Given the description of an element on the screen output the (x, y) to click on. 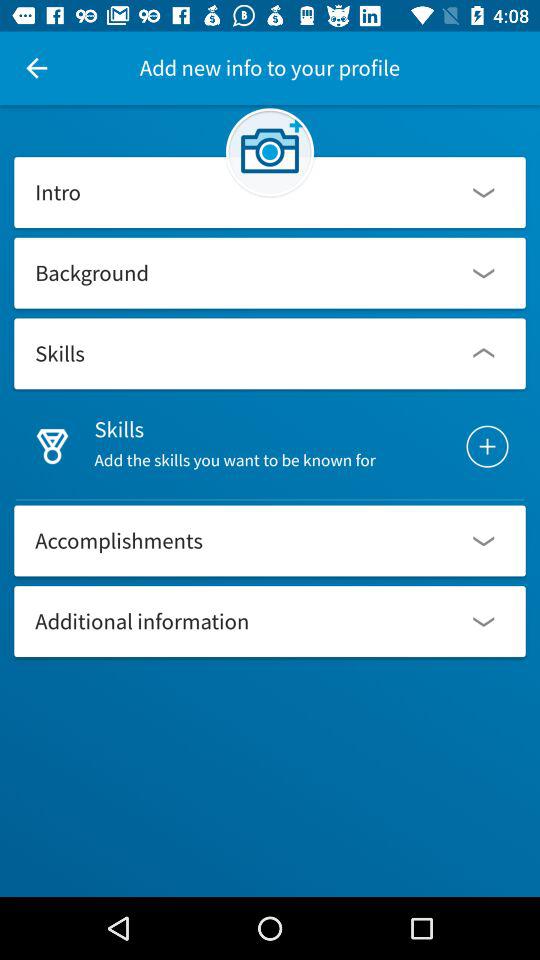
select the option accomplishments (269, 540)
click on  button which is next to skills (488, 447)
click on drop down right to accomplishments (483, 540)
click on camera icon below add new info to your profile (269, 151)
click on background (269, 273)
click on camera symbol (269, 151)
